Given the description of an element on the screen output the (x, y) to click on. 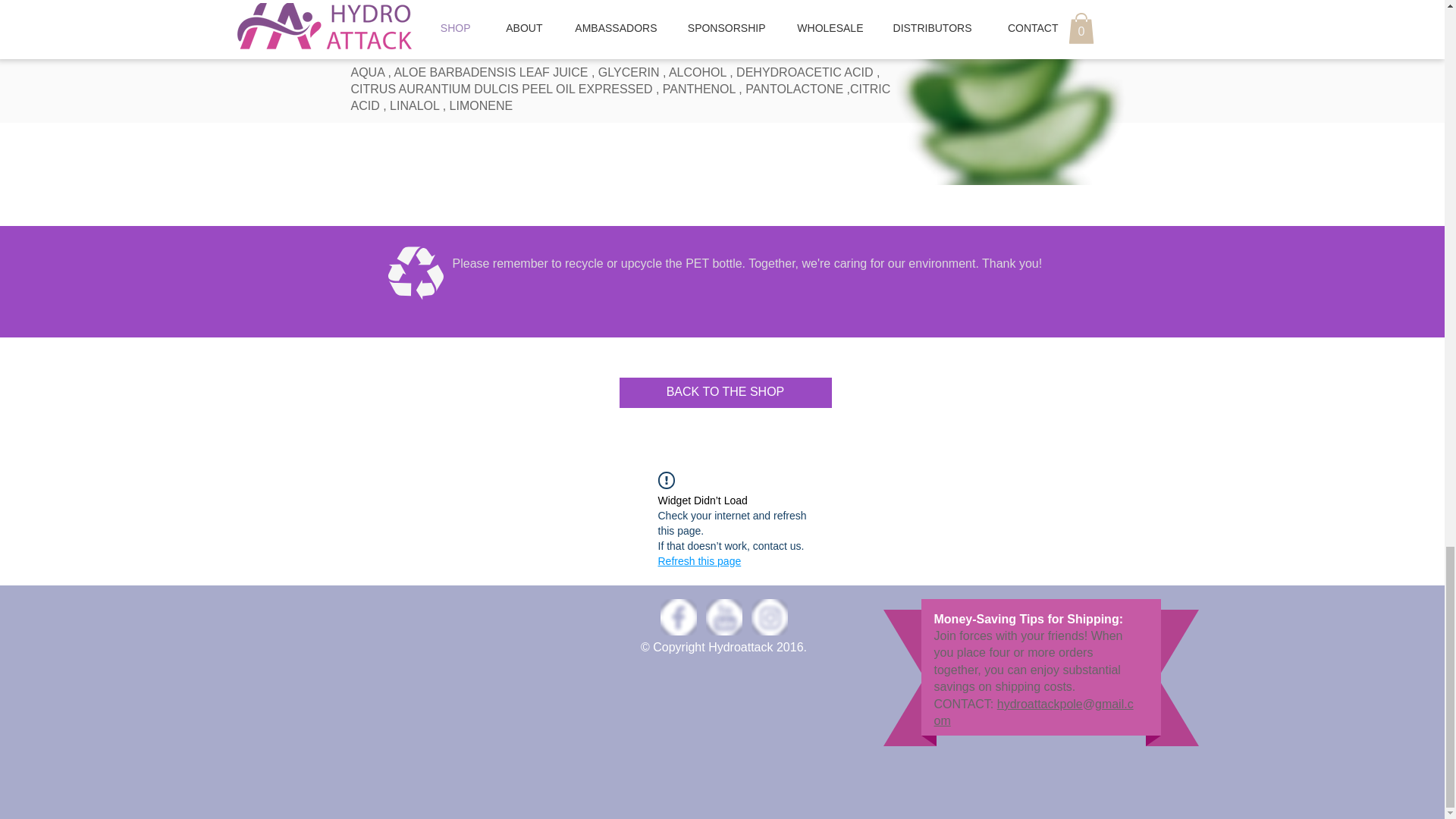
gmail.com (1034, 712)
hydroattackpole (1040, 703)
Refresh this page (699, 560)
BACK TO THE SHOP (724, 392)
